Given the description of an element on the screen output the (x, y) to click on. 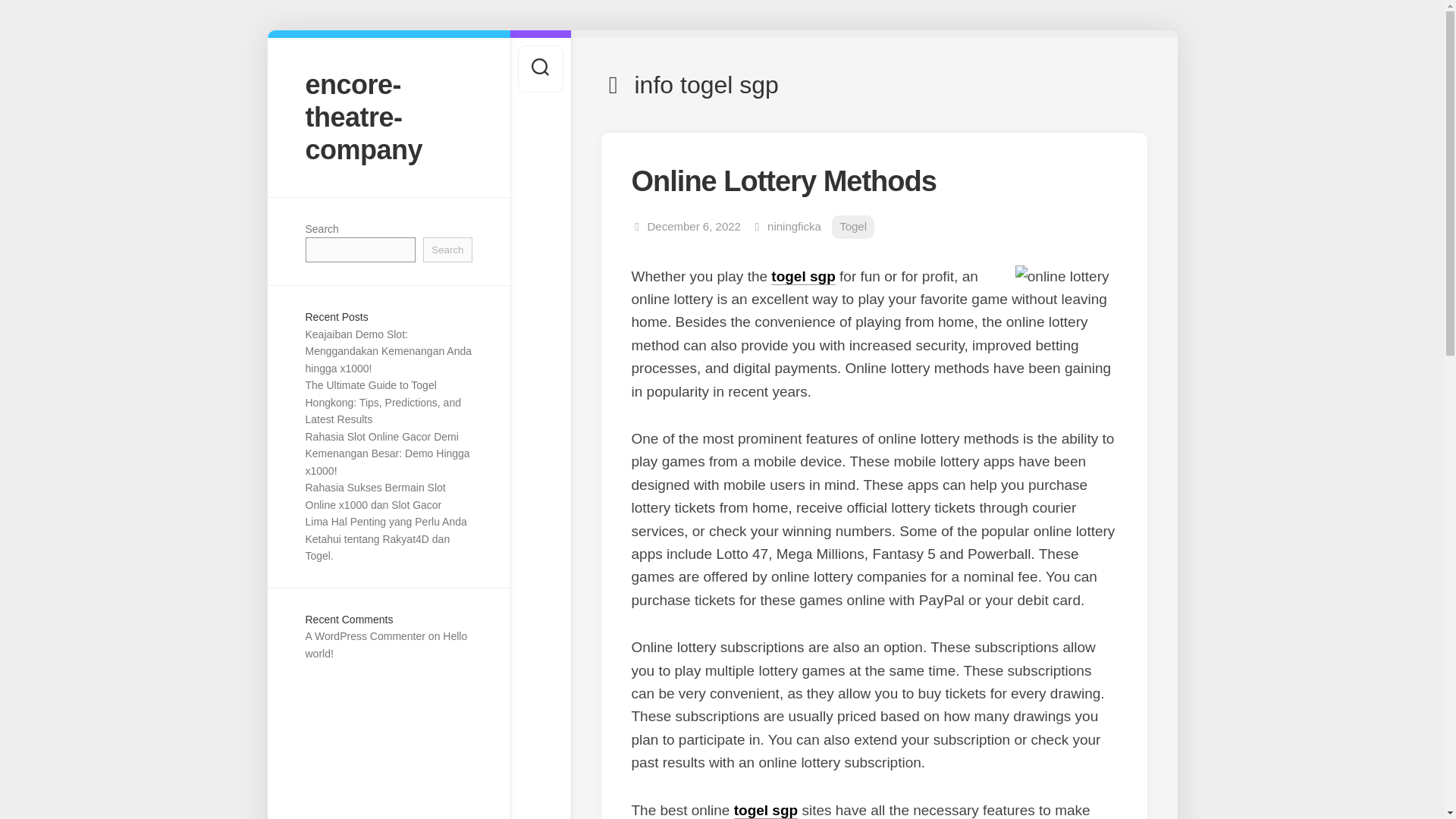
togel sgp (765, 810)
Rahasia Sukses Bermain Slot Online x1000 dan Slot Gacor (374, 496)
niningficka (794, 226)
Togel (853, 227)
encore-theatre-company (387, 117)
Search (447, 249)
Online Lottery Methods (783, 181)
Posts by niningficka (794, 226)
A WordPress Commenter (364, 635)
Hello world! (385, 644)
togel sgp (802, 276)
